Given the description of an element on the screen output the (x, y) to click on. 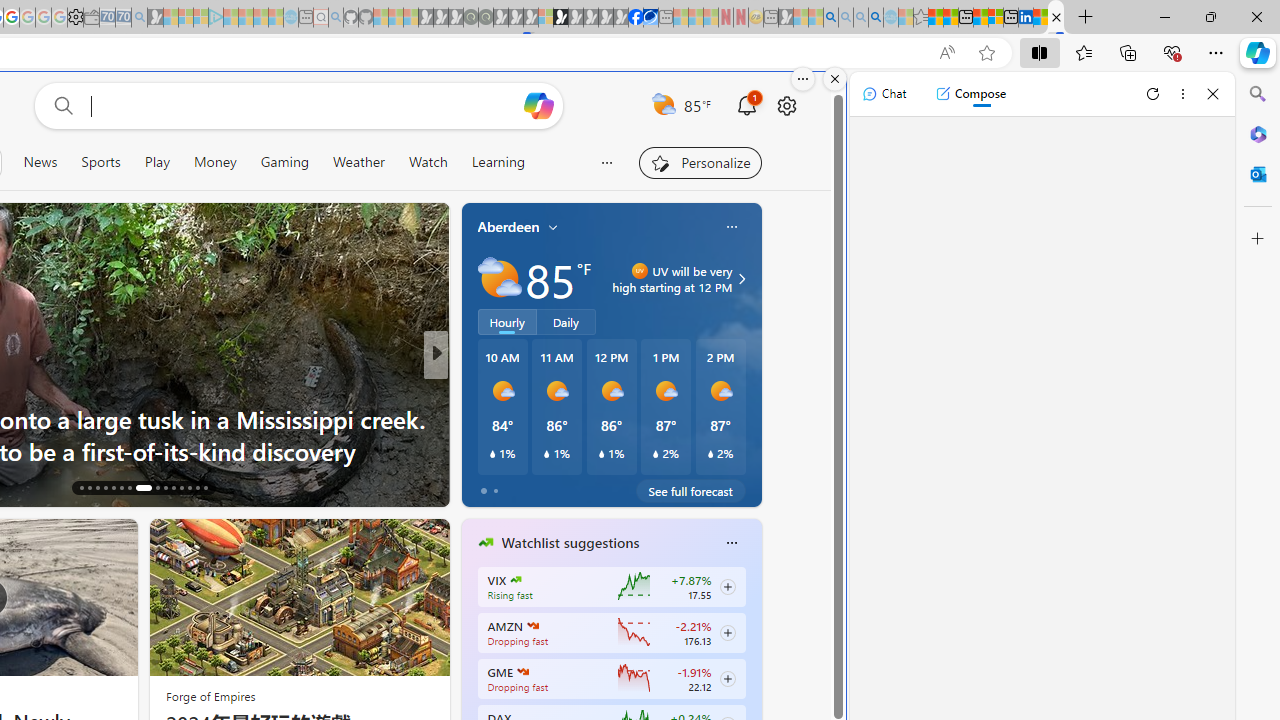
Play (156, 161)
AutomationID: tab-22 (129, 487)
Animals Around The Globe (US) (477, 418)
AutomationID: tab-21 (120, 487)
Hide this story (77, 542)
Favorites - Sleeping (920, 17)
Chat (884, 93)
AutomationID: tab-16 (80, 487)
Google Chrome Internet Browser Download - Search Images (876, 17)
